Given the description of an element on the screen output the (x, y) to click on. 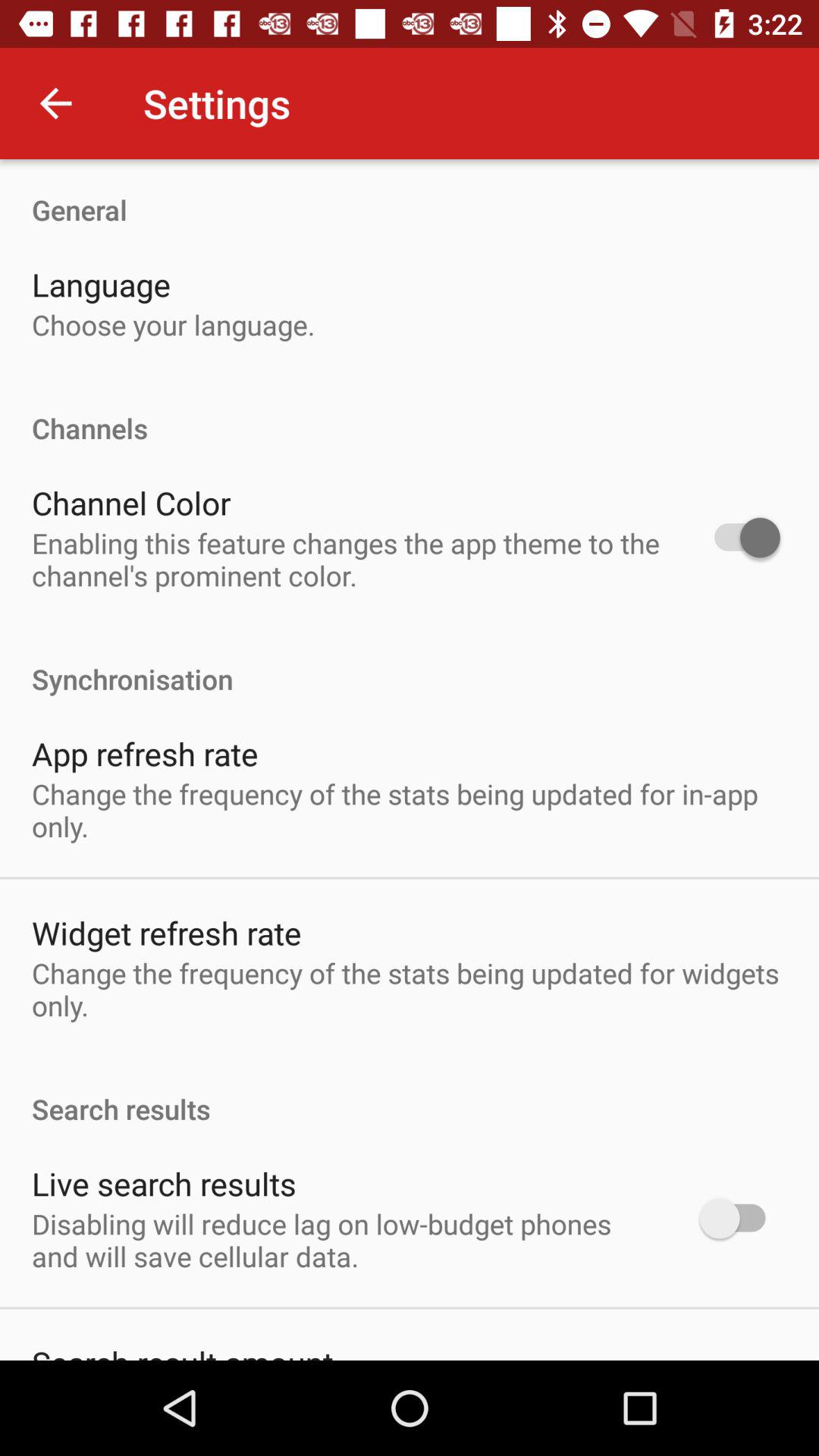
press icon to the left of settings (55, 103)
